Given the description of an element on the screen output the (x, y) to click on. 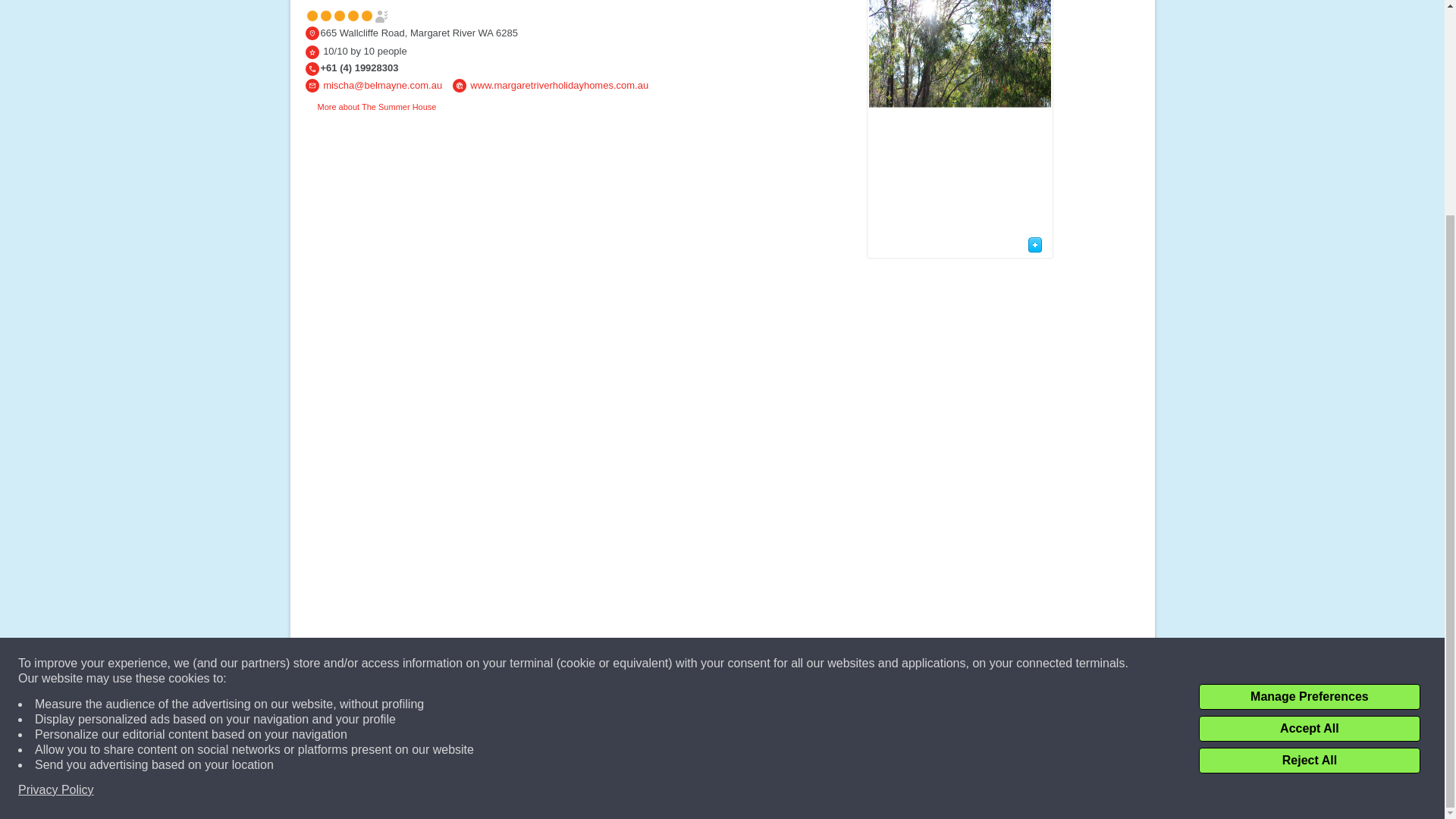
Self Rated: 5 Stars (347, 15)
Telephone (311, 69)
Accept All (1309, 446)
View all images of The Summer House and it's Products. (1035, 244)
Privacy Policy (55, 507)
Rating (311, 51)
Address (311, 33)
Email (311, 85)
Manage Preferences (1309, 414)
Reject All (1309, 478)
More about The Summer House (369, 106)
Website (458, 85)
www.margaretriverholidayhomes.com.au (558, 84)
